Given the description of an element on the screen output the (x, y) to click on. 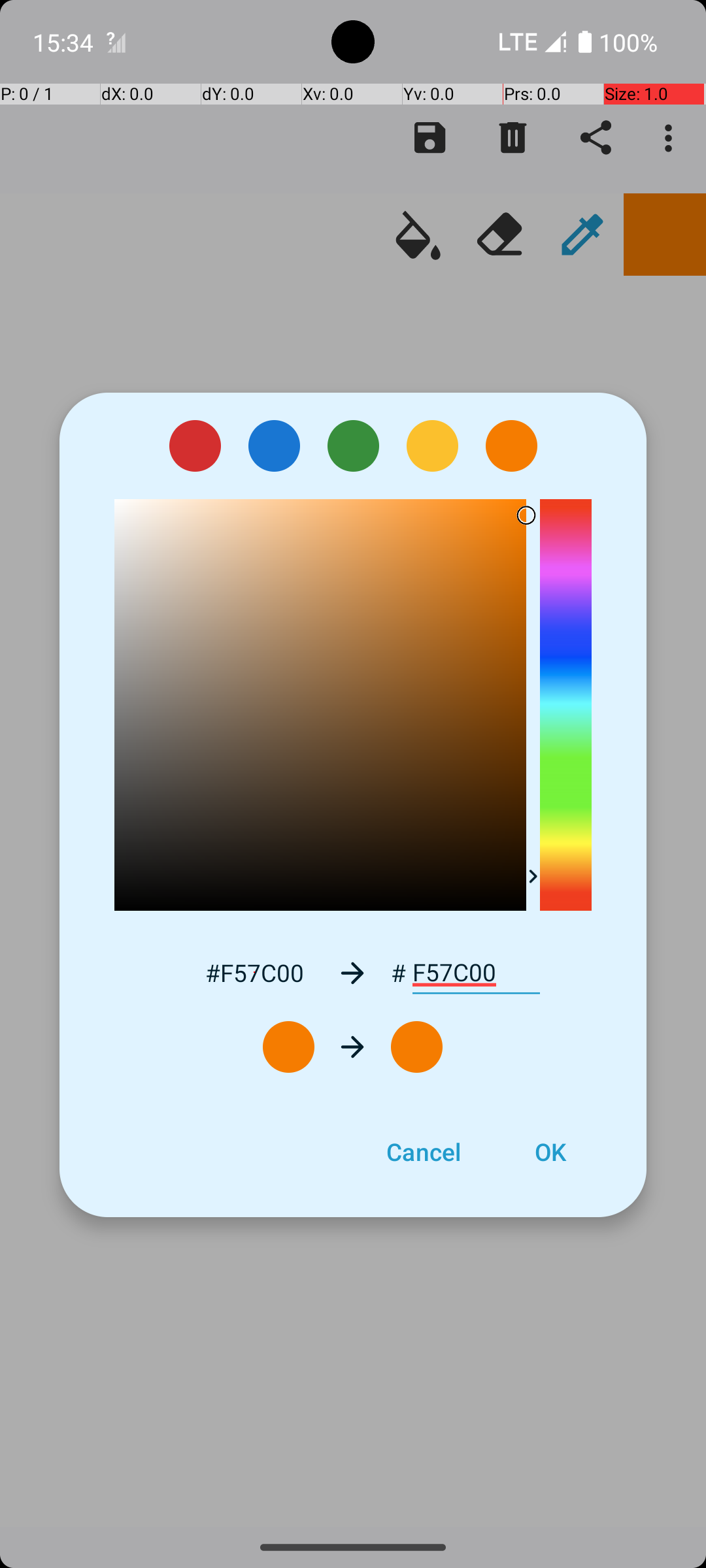
#F57C00 Element type: android.widget.TextView (254, 972)
F57C00 Element type: android.widget.EditText (475, 972)
